Given the description of an element on the screen output the (x, y) to click on. 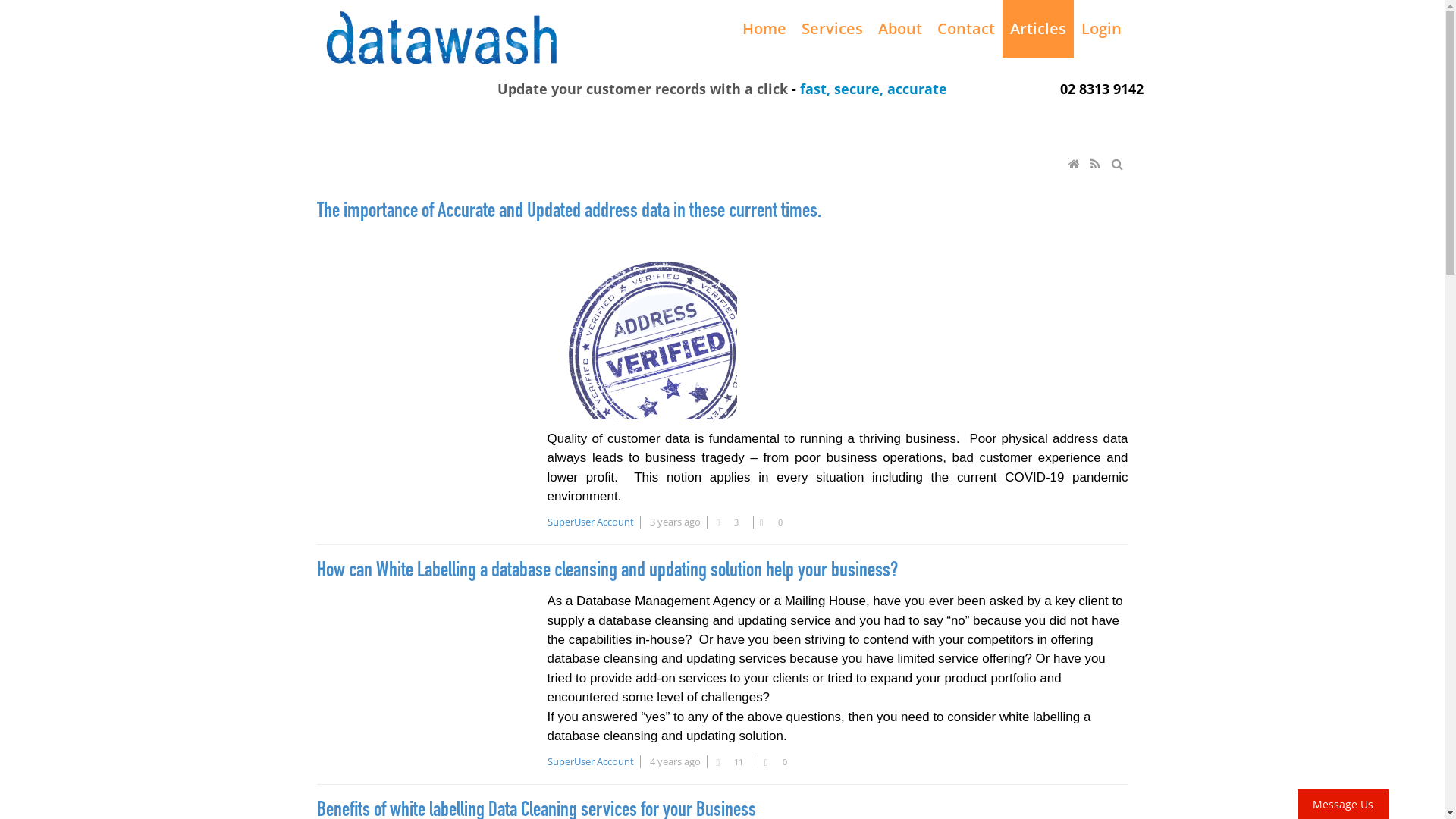
SuperUser Account Element type: text (590, 761)
Datawash Australia Element type: hover (441, 36)
RSS Element type: hover (1096, 163)
SuperUser Account Element type: text (590, 521)
Search Element type: hover (1118, 163)
  Element type: text (1096, 163)
  Element type: text (1075, 163)
  Element type: text (1118, 163)
Home Element type: hover (1075, 163)
